Given the description of an element on the screen output the (x, y) to click on. 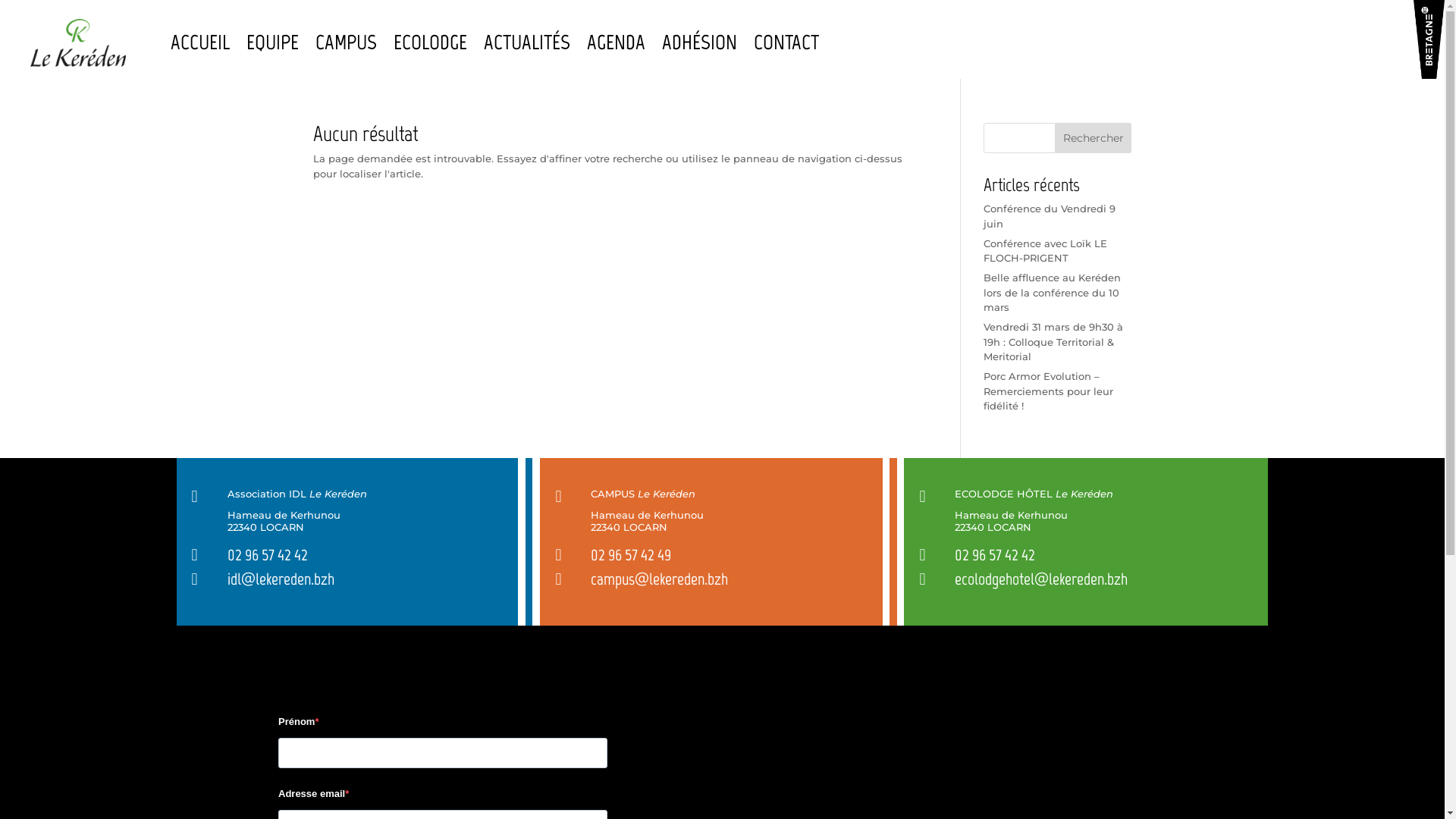
CONTACT Element type: text (786, 42)
AGENDA Element type: text (615, 42)
CAMPUS Element type: text (345, 42)
Rechercher Element type: text (1093, 137)
ACCUEIL Element type: text (199, 42)
EQUIPE Element type: text (272, 42)
ECOLODGE Element type: text (430, 42)
